Given the description of an element on the screen output the (x, y) to click on. 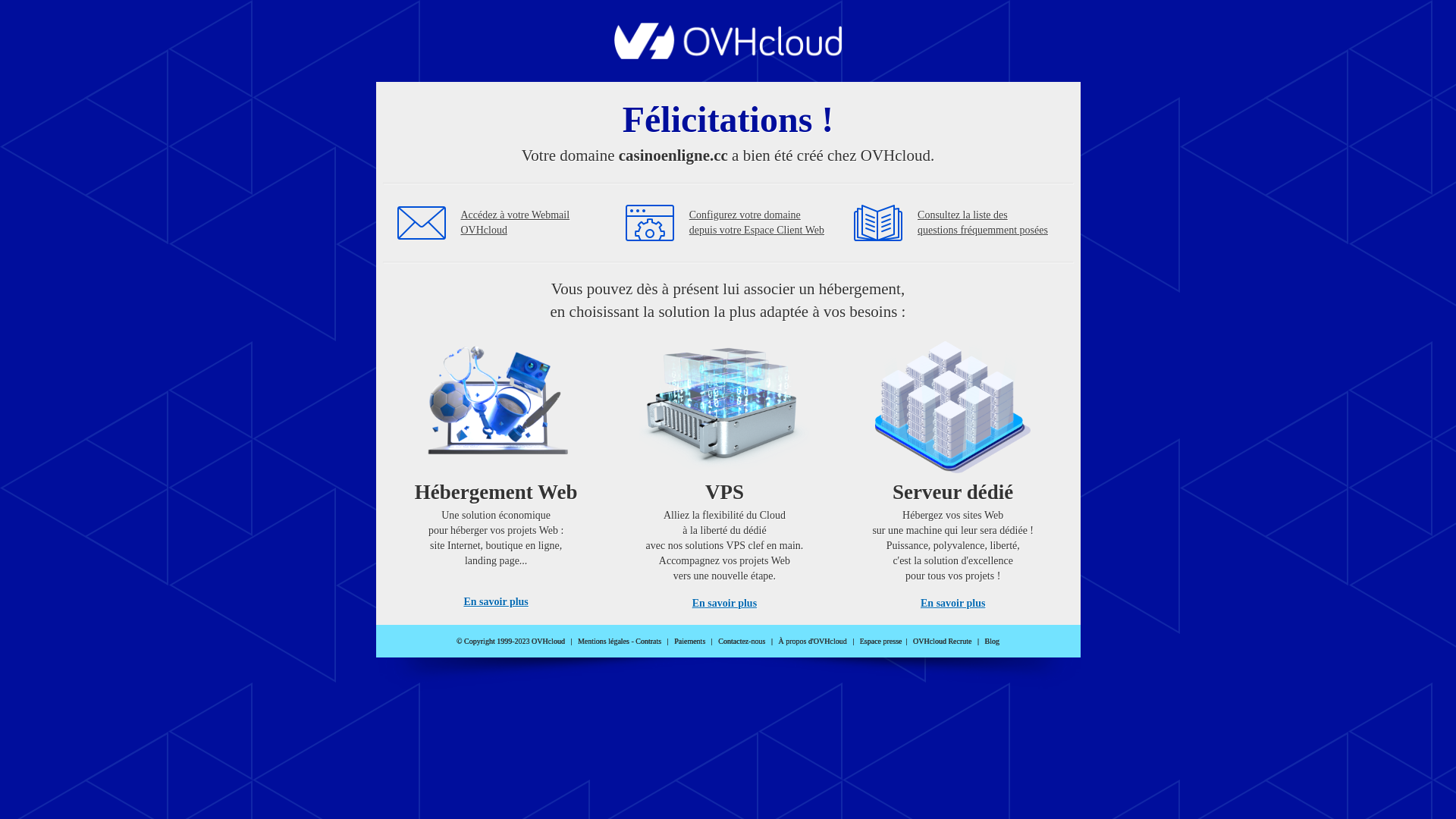
Espace presse Element type: text (880, 641)
Contactez-nous Element type: text (741, 641)
En savoir plus Element type: text (724, 602)
Paiements Element type: text (689, 641)
Blog Element type: text (992, 641)
Configurez votre domaine
depuis votre Espace Client Web Element type: text (756, 222)
VPS Element type: hover (724, 469)
OVHcloud Element type: hover (727, 54)
OVHcloud Recrute Element type: text (942, 641)
En savoir plus Element type: text (495, 601)
En savoir plus Element type: text (952, 602)
